Given the description of an element on the screen output the (x, y) to click on. 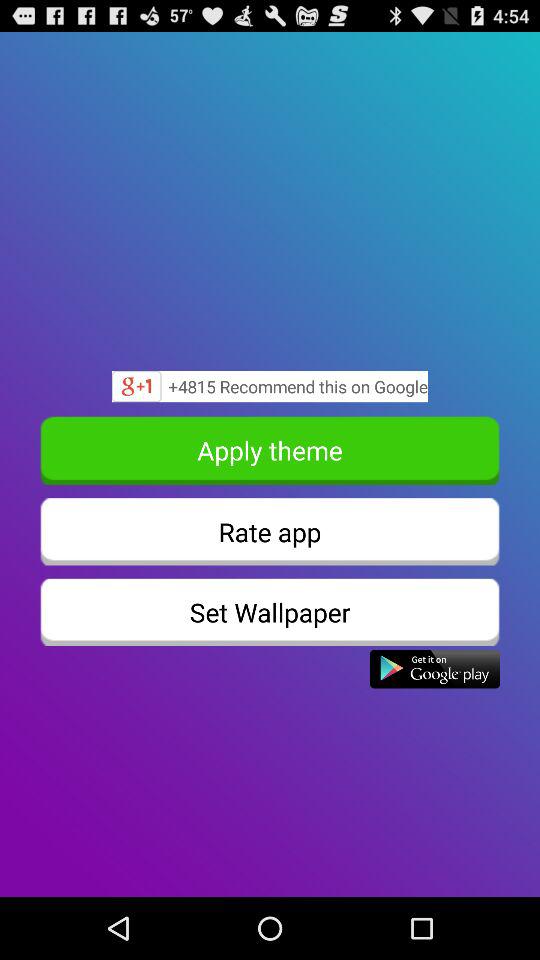
launch the button above the set wallpaper icon (269, 531)
